Given the description of an element on the screen output the (x, y) to click on. 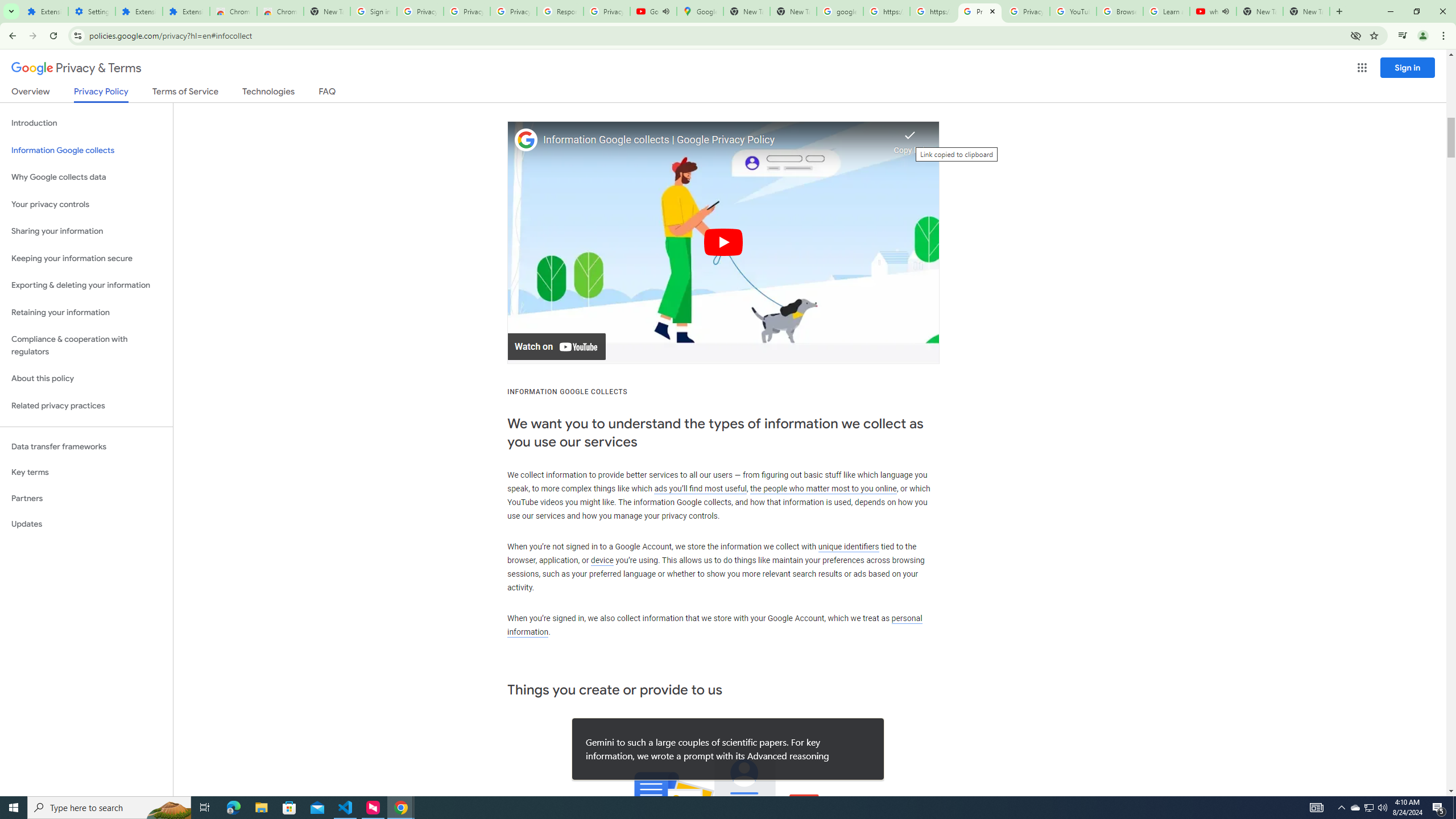
Extensions (186, 11)
Data transfer frameworks (86, 446)
Partners (86, 497)
Browse Chrome as a guest - Computer - Google Chrome Help (1120, 11)
New Tab (1306, 11)
Chrome Web Store (233, 11)
Key terms (86, 472)
Information Google collects (86, 150)
Google Maps (699, 11)
Your privacy controls (86, 204)
Updates (86, 524)
